Given the description of an element on the screen output the (x, y) to click on. 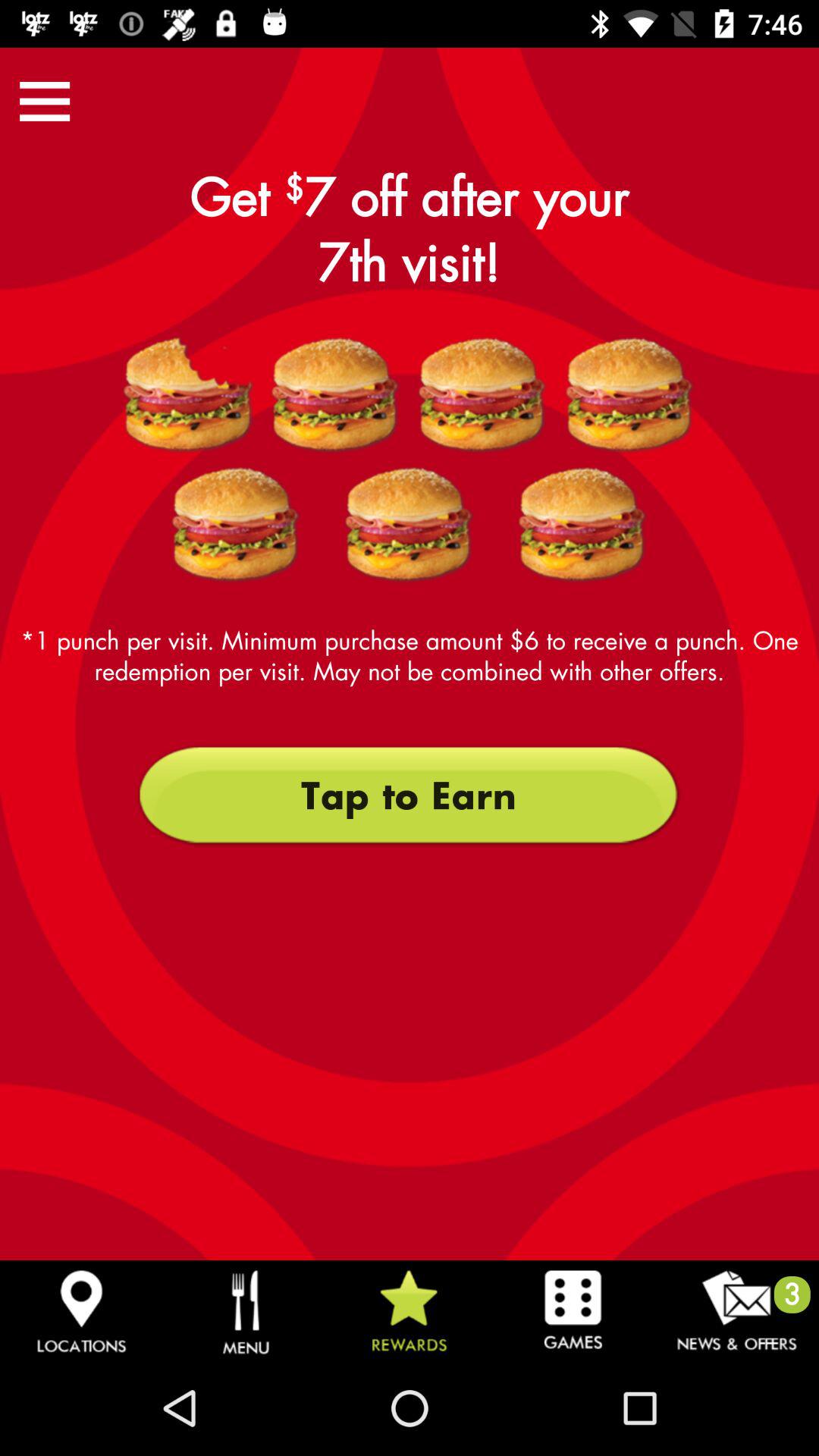
tap the icon above the 1 punch per icon (44, 101)
